Given the description of an element on the screen output the (x, y) to click on. 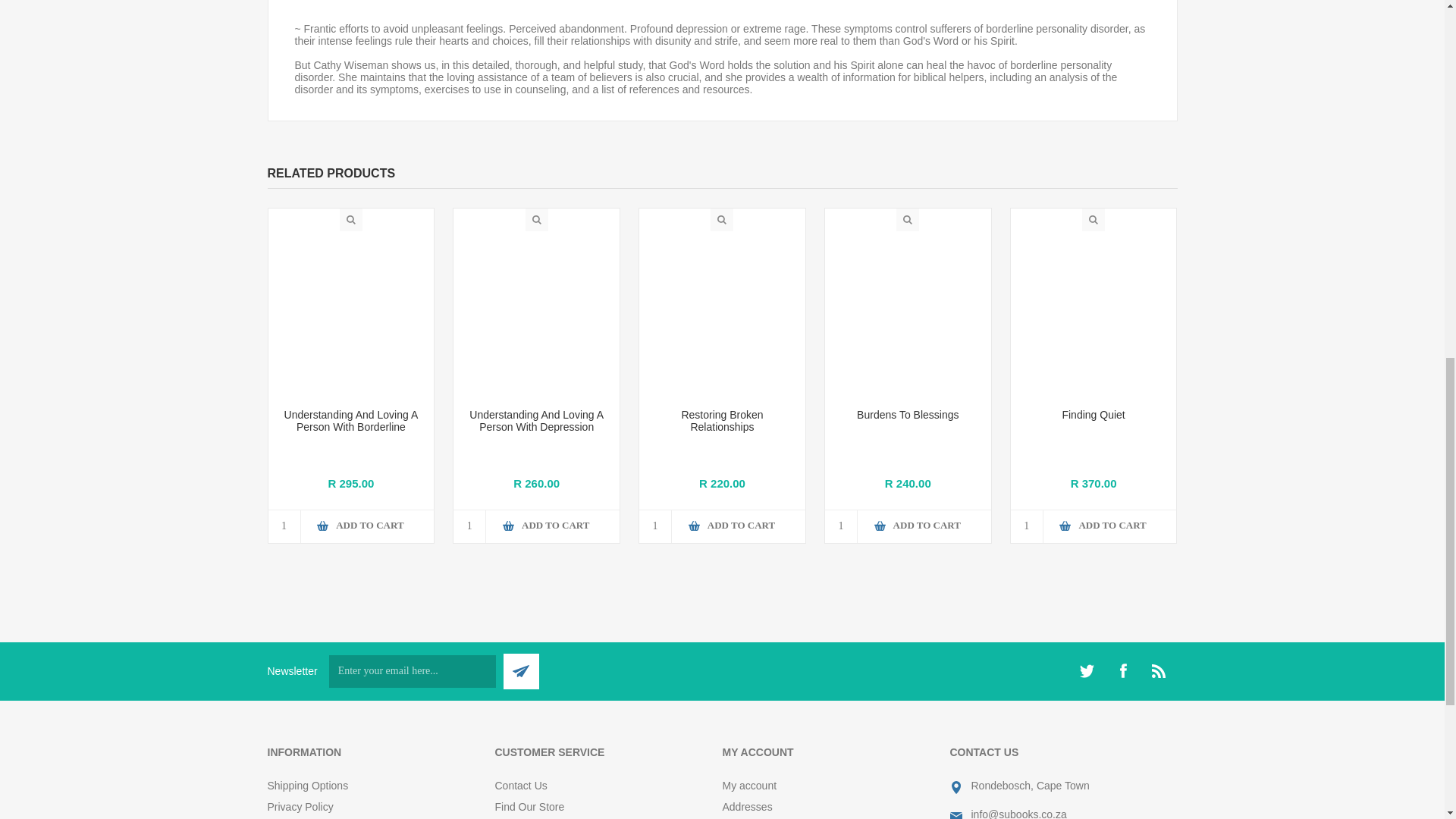
1 (655, 526)
1 (284, 526)
1 (841, 526)
1 (469, 526)
1 (1026, 526)
